Given the description of an element on the screen output the (x, y) to click on. 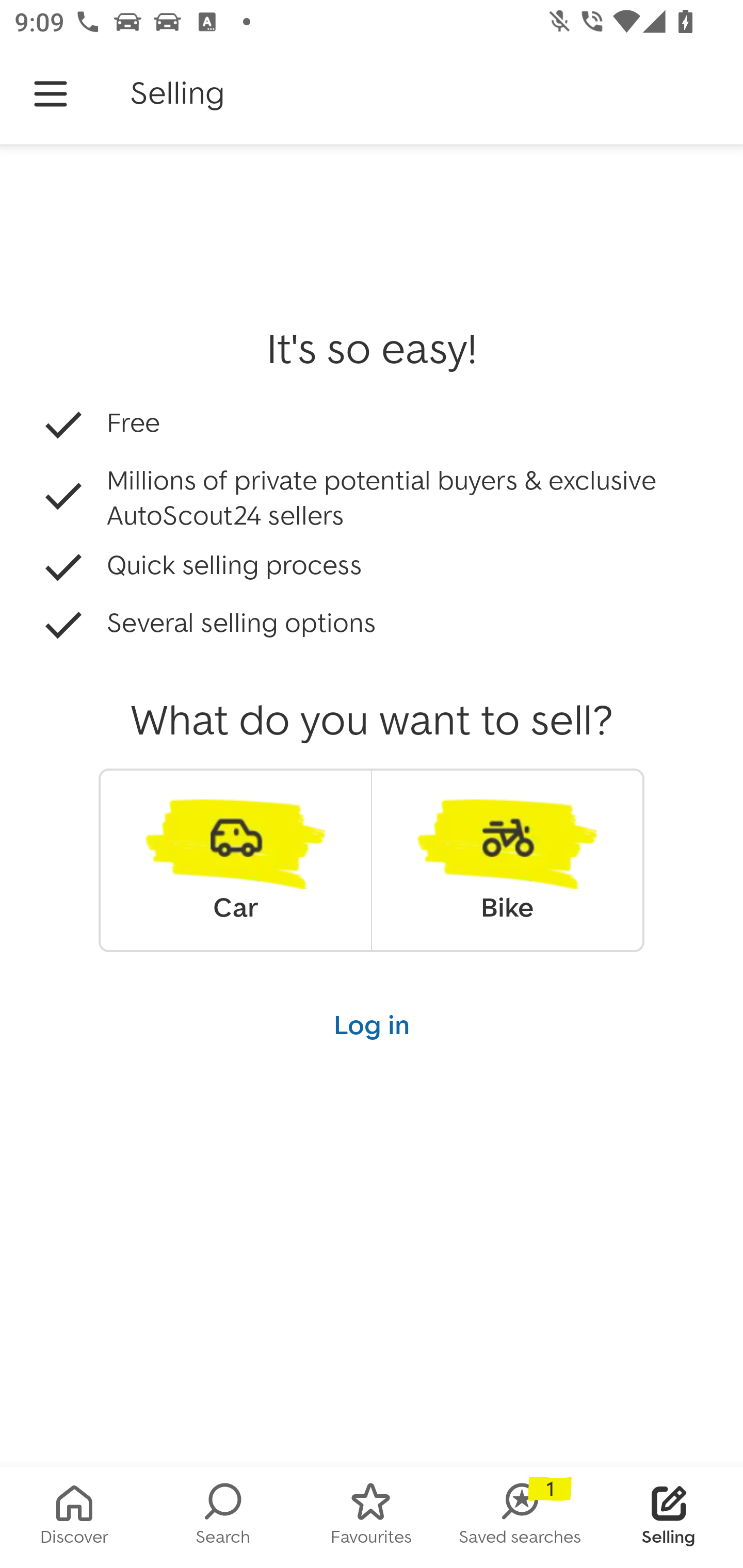
Navigate up (50, 93)
Car (235, 859)
Bike (507, 859)
Log in (371, 1024)
HOMESCREEN Discover (74, 1517)
SEARCH Search (222, 1517)
FAVORITES Favourites (371, 1517)
SAVED_SEARCHES Saved searches 1 (519, 1517)
STOCK_LIST Selling (668, 1517)
